Given the description of an element on the screen output the (x, y) to click on. 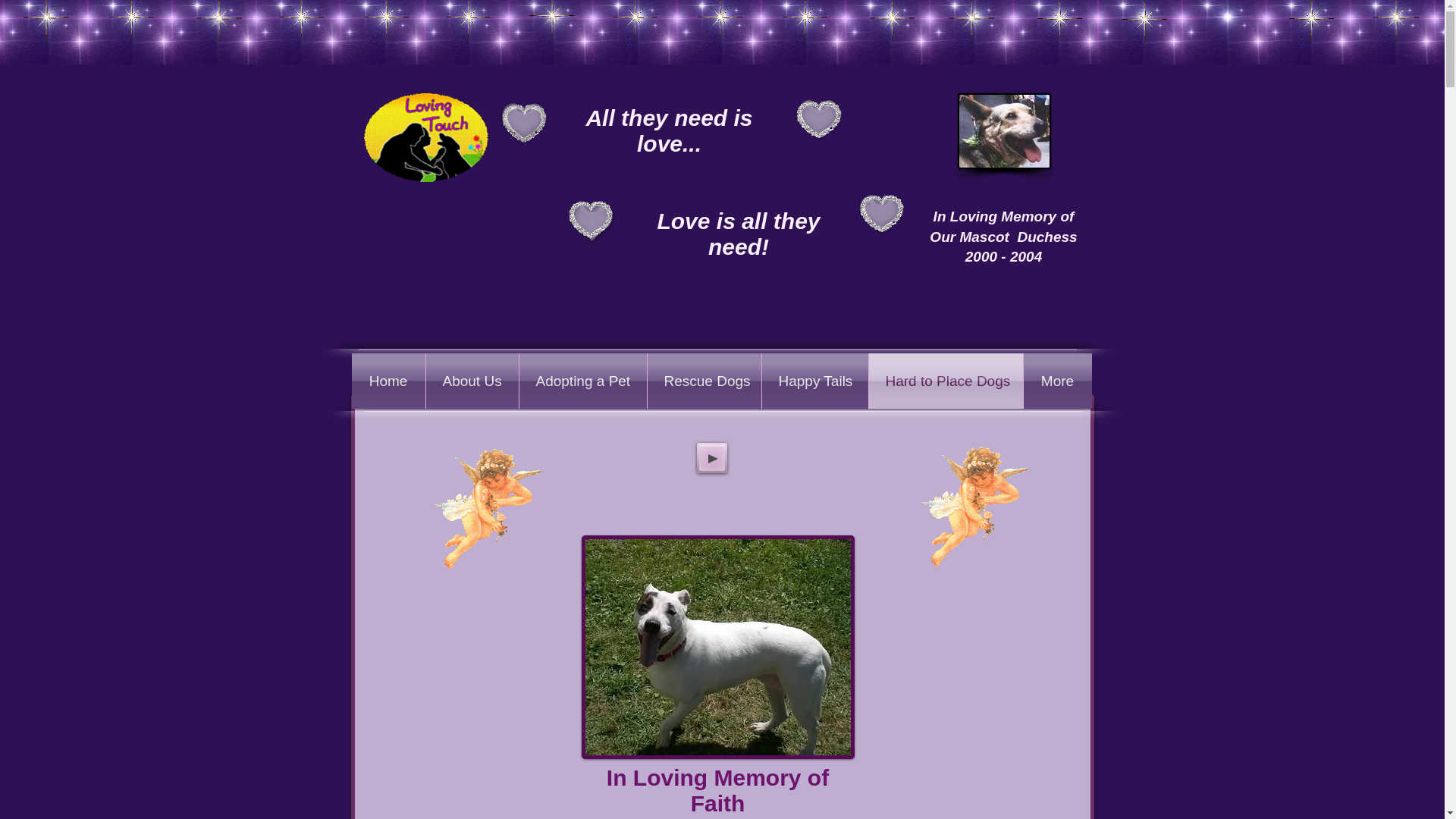
Rescue Dogs (704, 380)
WEB SMALL.jpg (1002, 130)
About Us (472, 380)
Adopting a Pet (582, 380)
Hard to Place Dogs (946, 380)
Happy Tails (814, 380)
Home (388, 380)
